Given the description of an element on the screen output the (x, y) to click on. 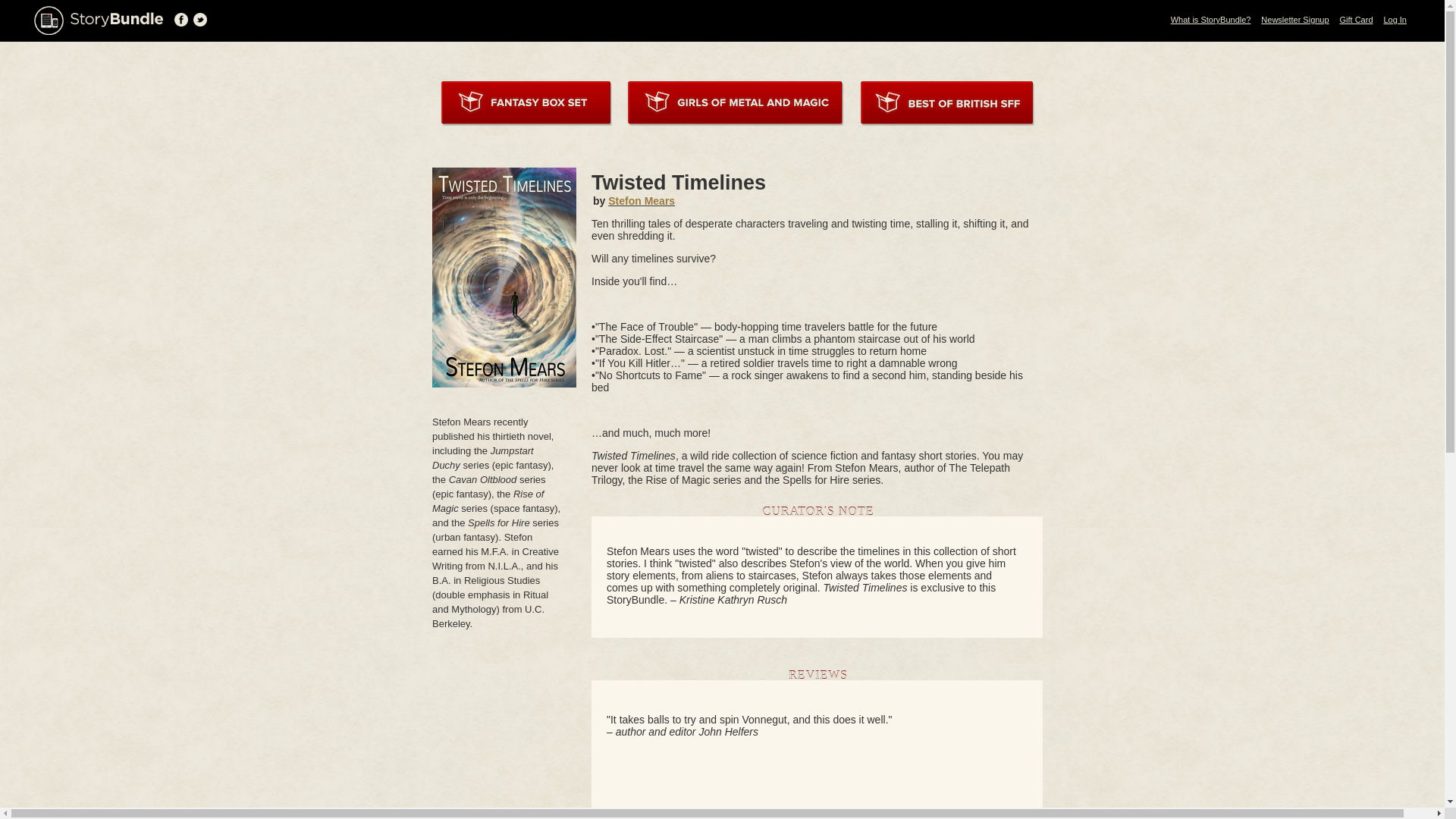
Stefon Mears (641, 200)
Log In (1394, 19)
What is StoryBundle? (1210, 19)
Newsletter Signup (1293, 19)
Gift Card (1356, 19)
